Given the description of an element on the screen output the (x, y) to click on. 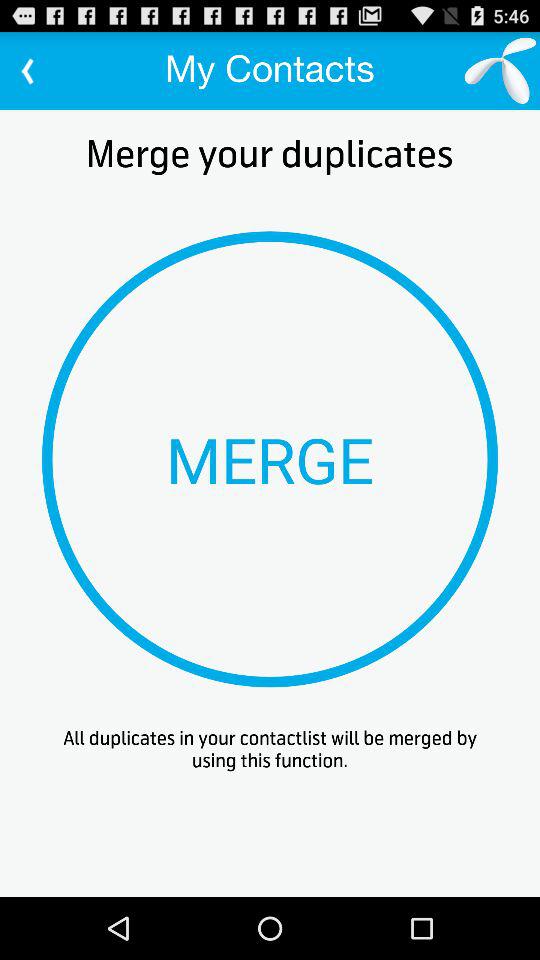
merge duplicate entries in your contact list (270, 459)
